Given the description of an element on the screen output the (x, y) to click on. 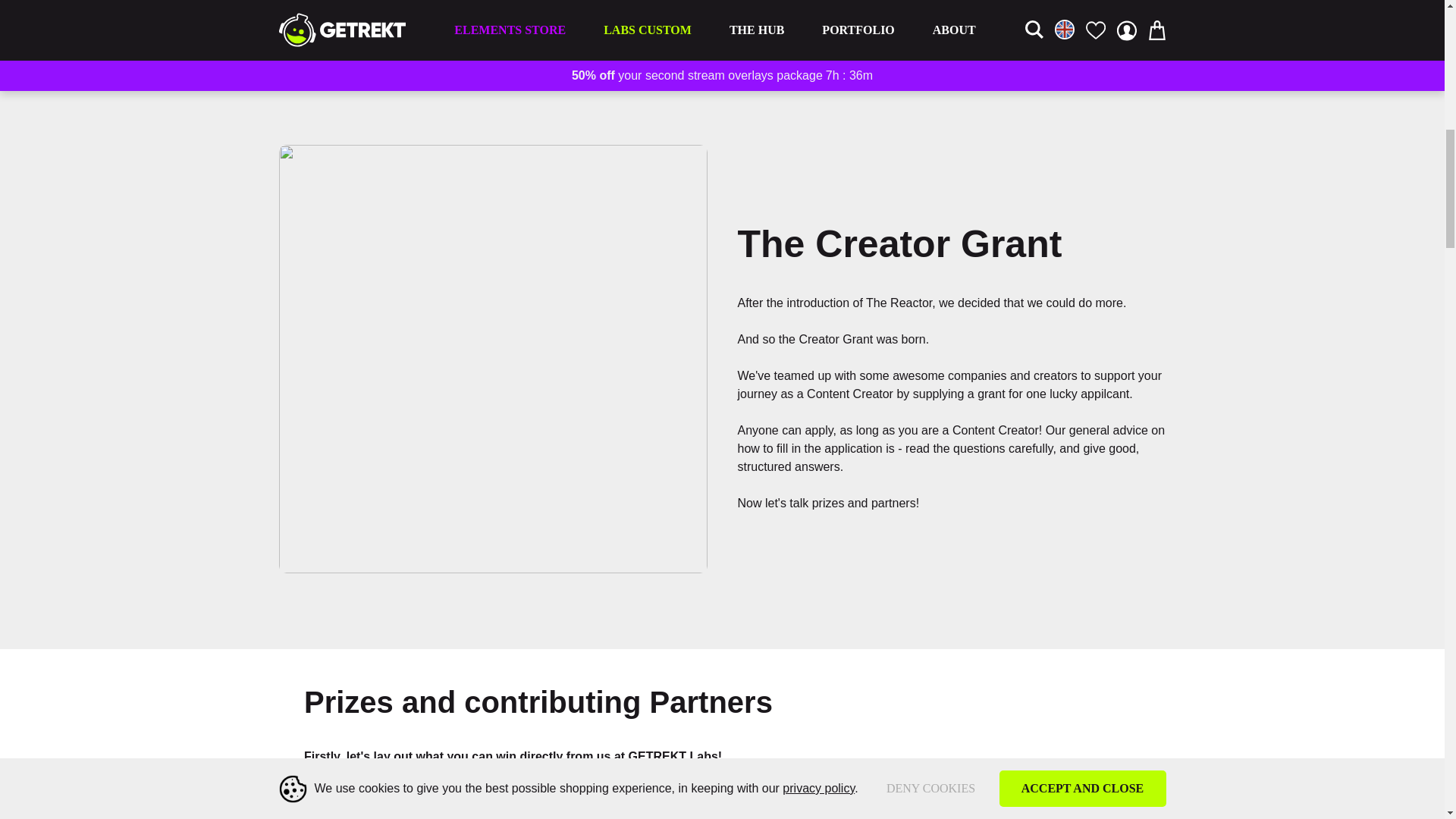
YouTube (595, 21)
